Given the description of an element on the screen output the (x, y) to click on. 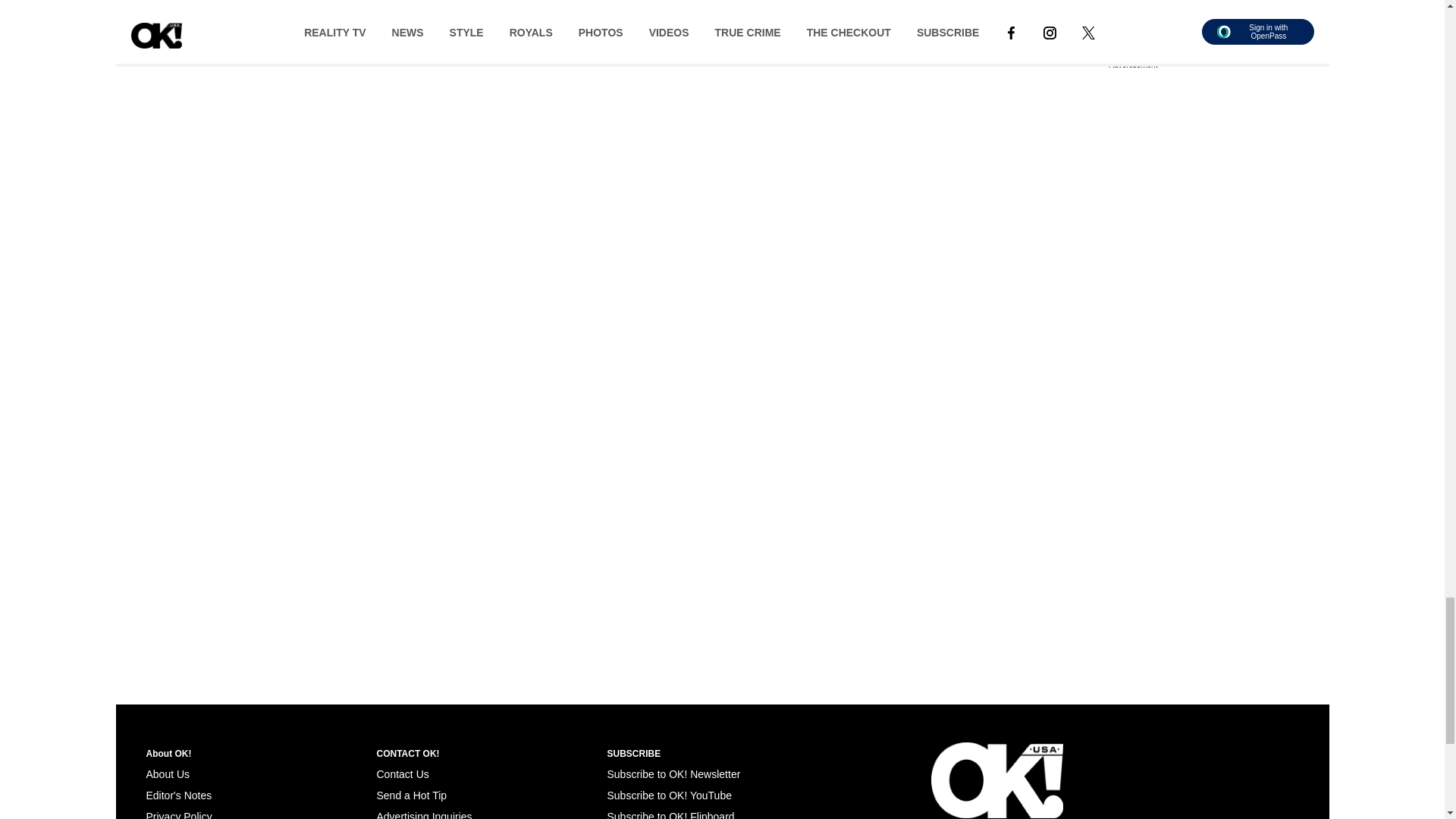
Contact Us (401, 774)
About Us (167, 774)
Editor's Notes (178, 795)
Privacy Policy (178, 814)
